Given the description of an element on the screen output the (x, y) to click on. 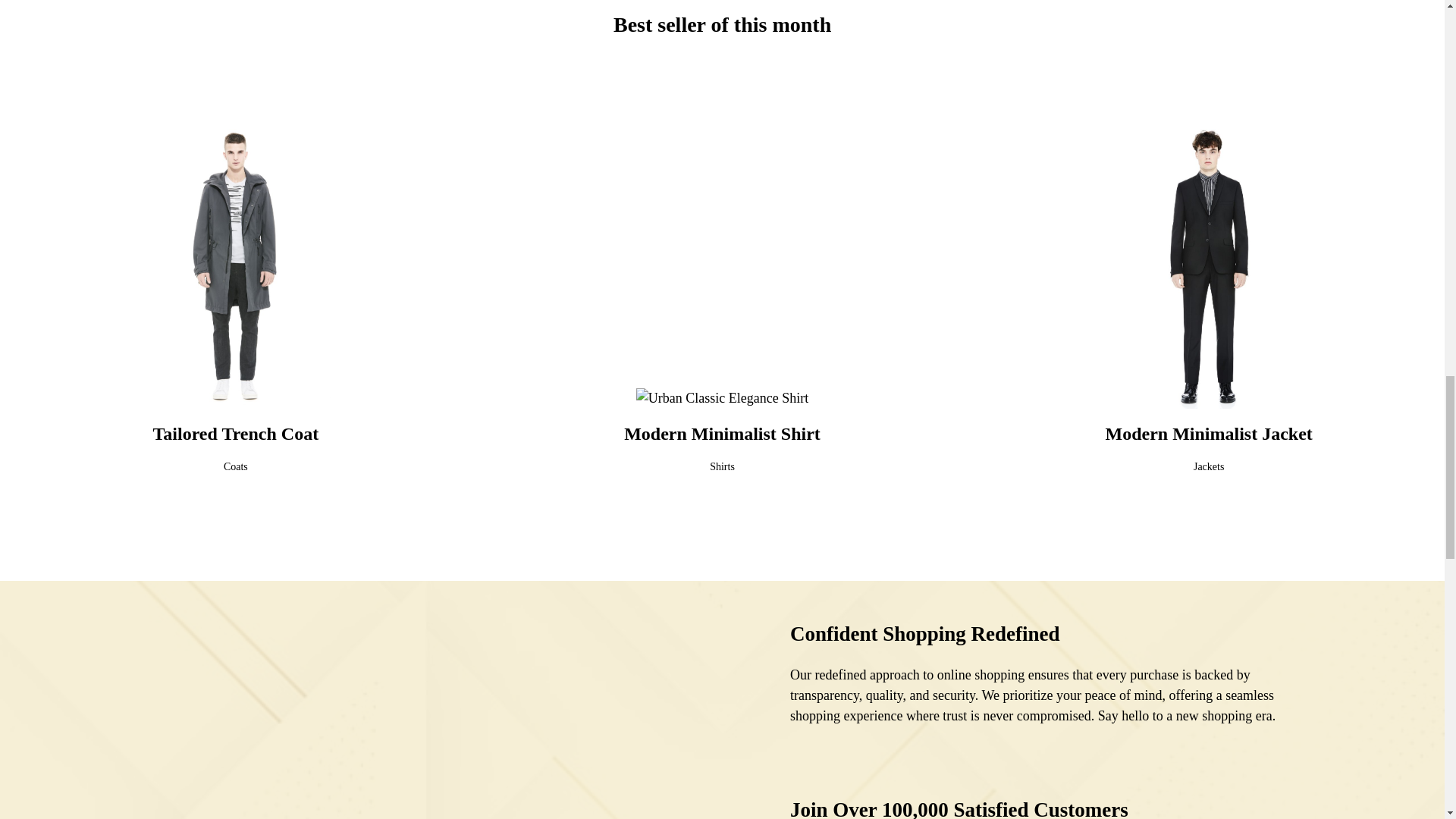
Modern Minimalist Jacket (1209, 433)
Shirts (722, 466)
Modern Minimalist Shirt (722, 433)
Coats (235, 466)
Tailored Trench Coat (235, 433)
Jackets (1208, 466)
